Given the description of an element on the screen output the (x, y) to click on. 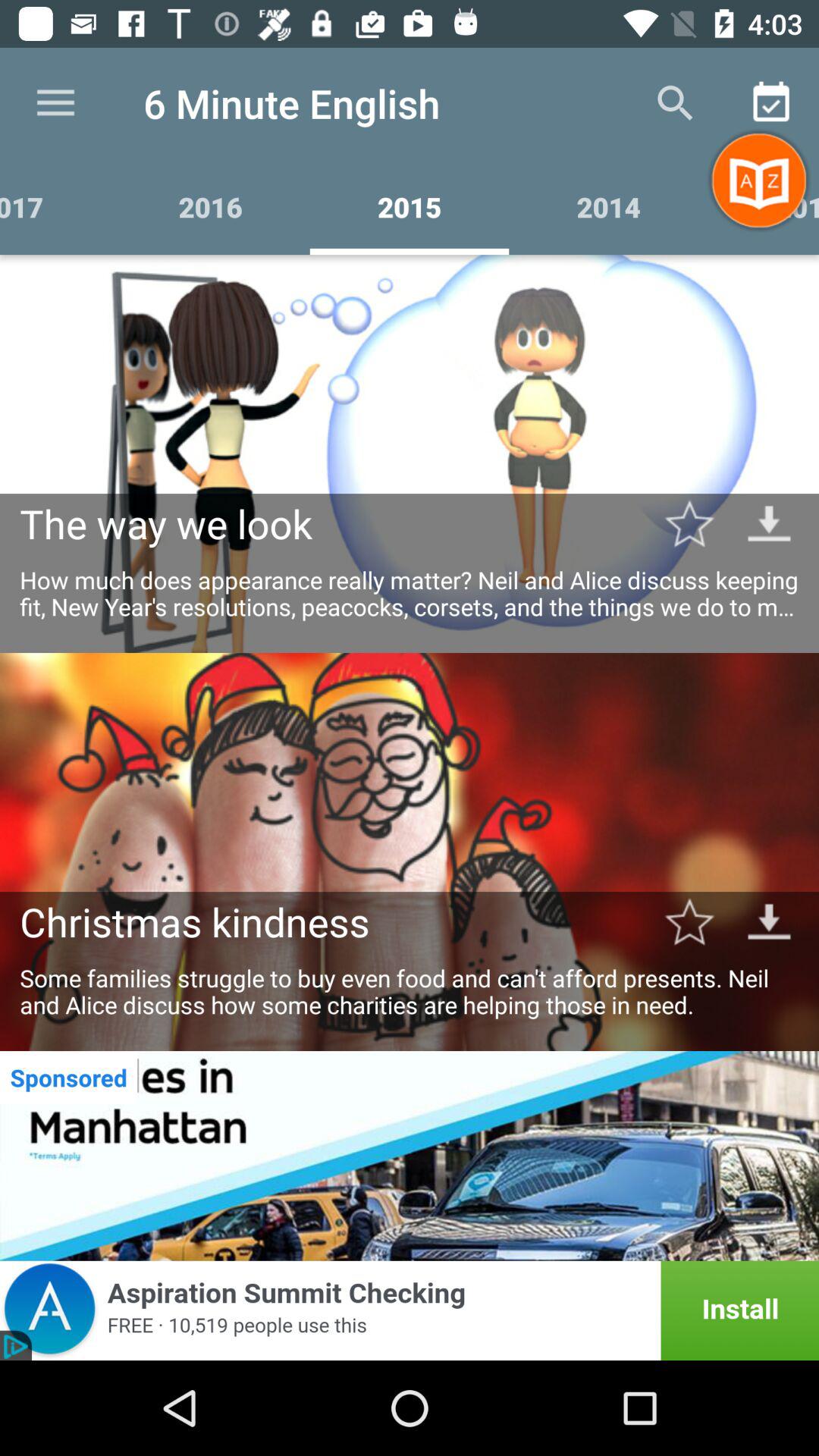
install this (409, 1310)
